Given the description of an element on the screen output the (x, y) to click on. 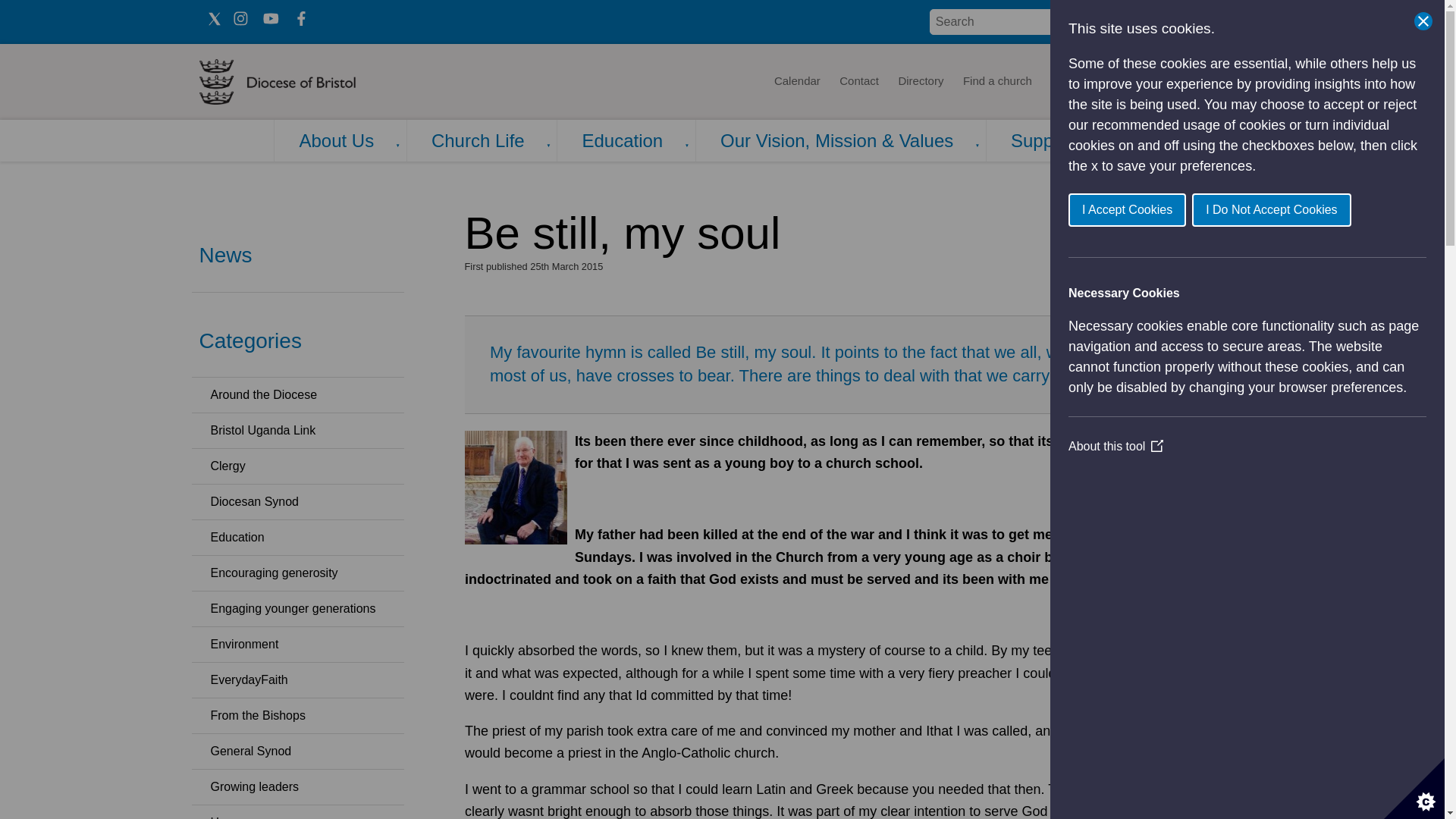
Logo (323, 81)
Contact (858, 81)
Calendar (797, 81)
News (1064, 81)
Find a church (997, 81)
Safeguarding (1203, 81)
Directory (920, 81)
Vacancies (1124, 81)
